Given the description of an element on the screen output the (x, y) to click on. 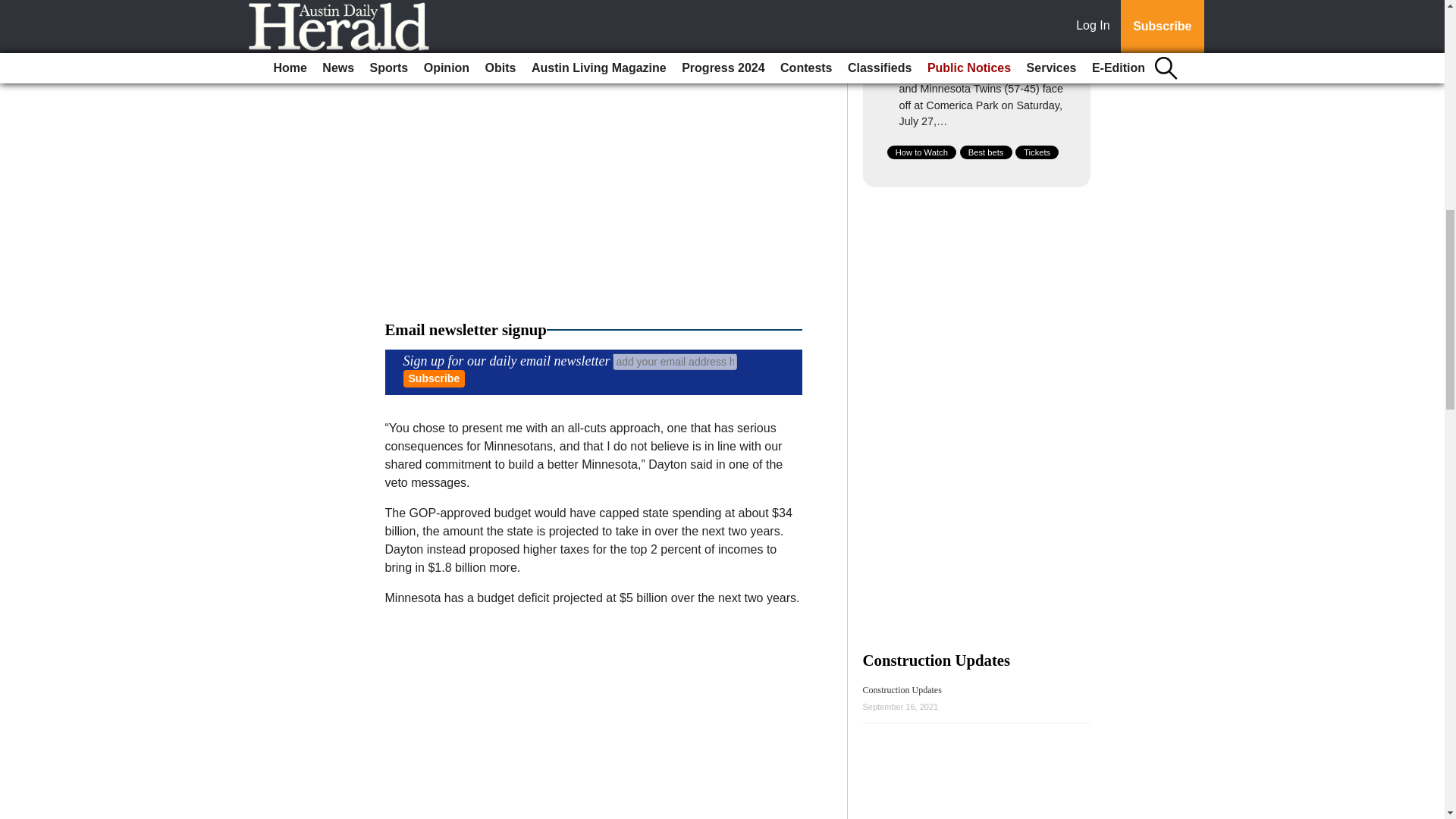
Subscribe (434, 378)
